Given the description of an element on the screen output the (x, y) to click on. 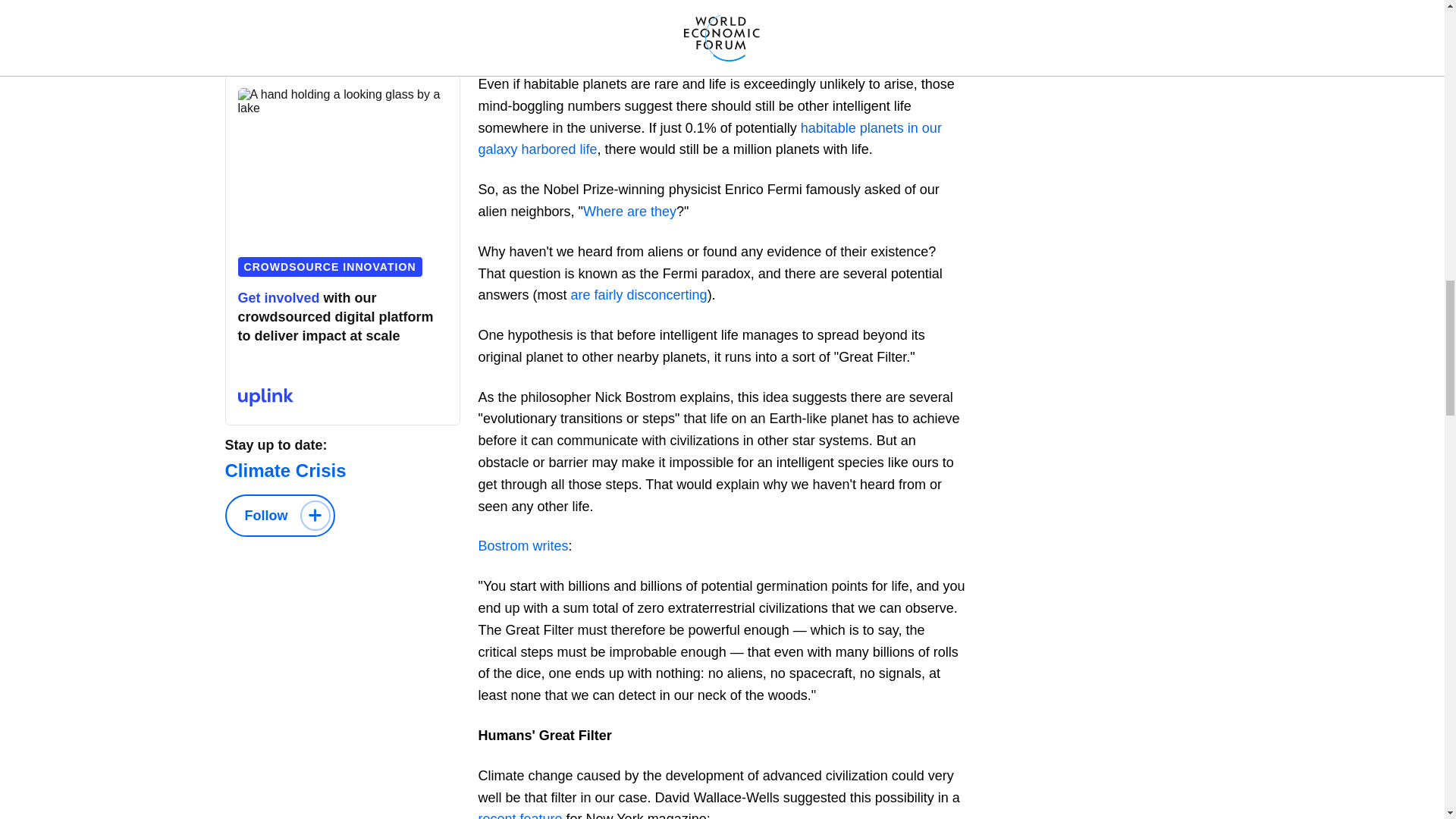
Follow (279, 515)
Where are they (630, 211)
NASA research indicates (867, 21)
habitable planets in our galaxy harbored life (708, 139)
Bostrom writes (522, 545)
are fairly disconcerting (638, 294)
recent feature (519, 815)
